Given the description of an element on the screen output the (x, y) to click on. 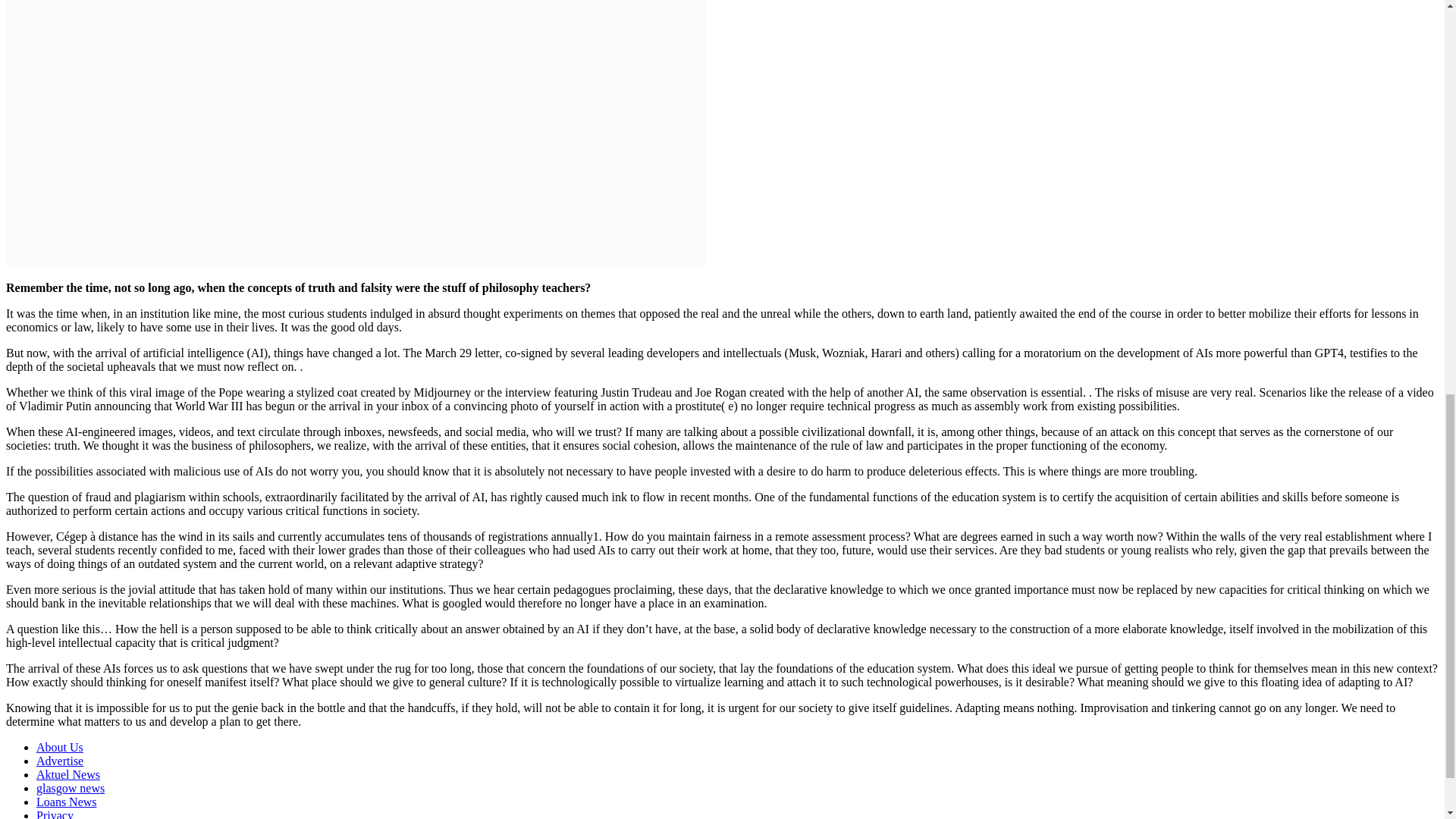
About Us (59, 747)
Loans News (66, 801)
Privacy (55, 814)
Advertise (59, 760)
Aktuel News (68, 774)
glasgow news (70, 788)
